Given the description of an element on the screen output the (x, y) to click on. 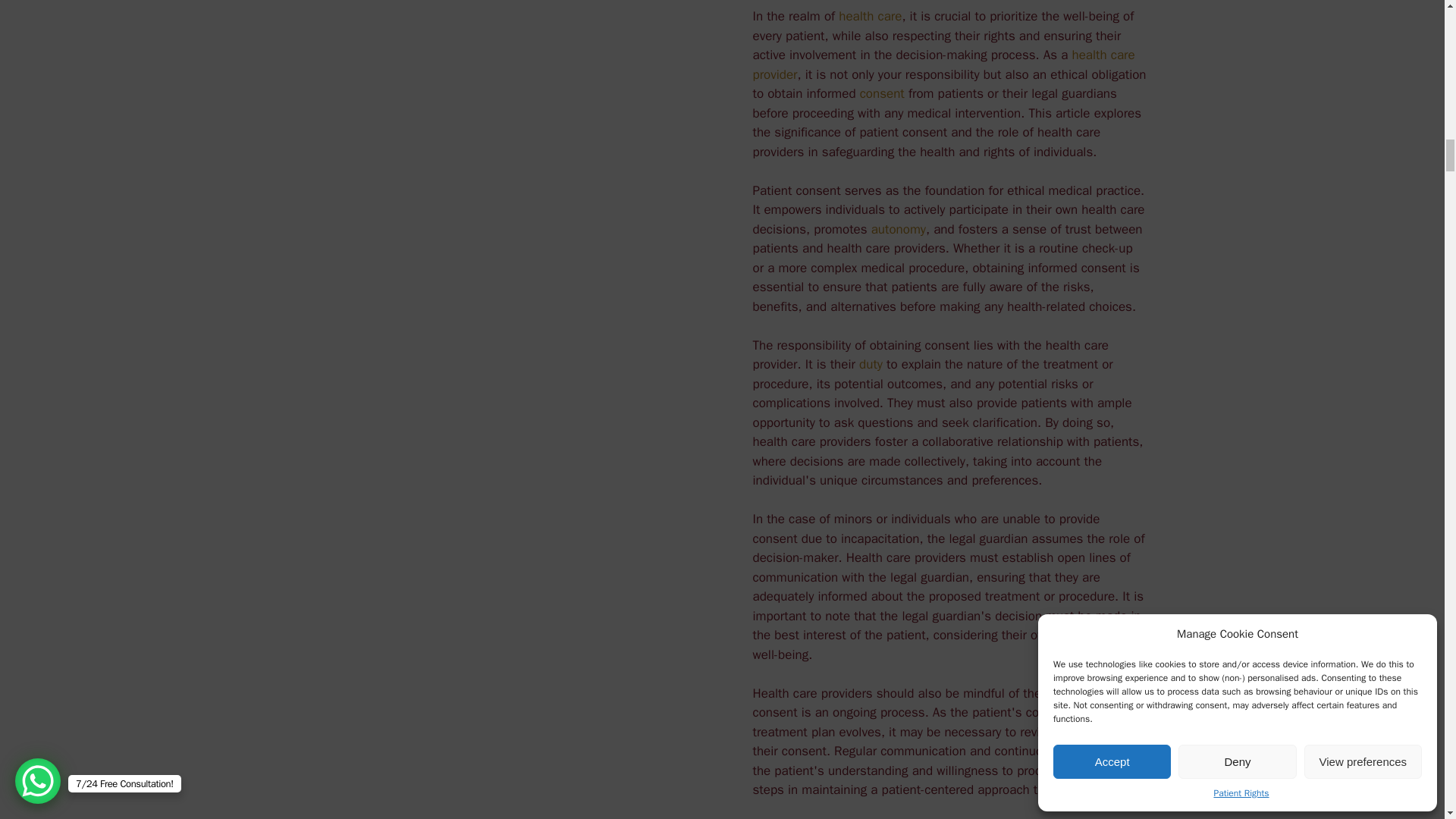
autonomy (898, 229)
